Given the description of an element on the screen output the (x, y) to click on. 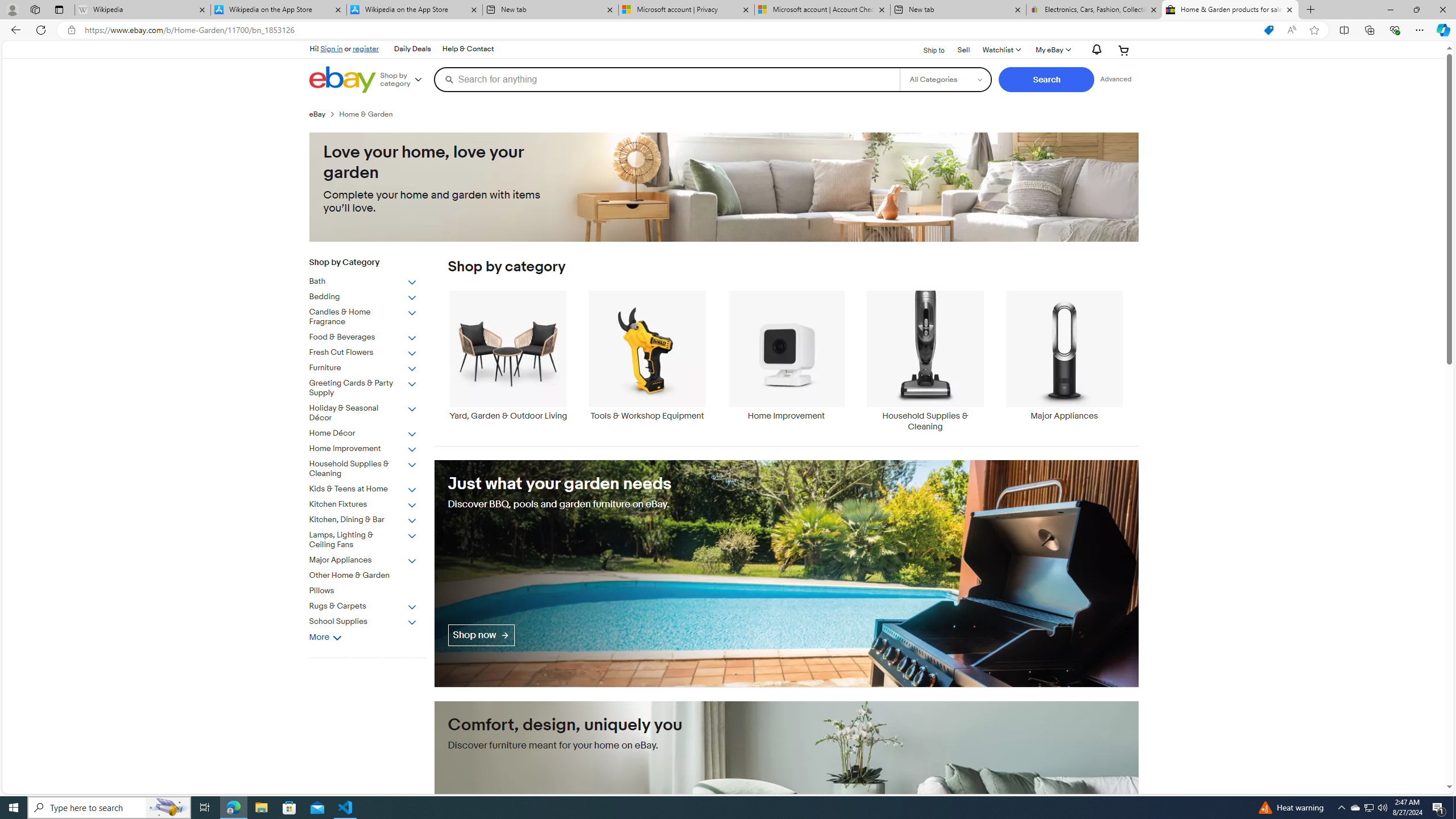
Home & Garden (370, 113)
Home Improvement (362, 448)
Kitchen, Dining & Bar (371, 517)
Minimize (1390, 9)
Sell (963, 49)
Bedding (362, 296)
Daily Deals (411, 49)
Help & Contact (467, 49)
Wikipedia - Sleeping (142, 9)
Pillows (371, 588)
Tools & Workshop Equipment (646, 355)
New tab (957, 9)
Bath (362, 281)
Home Improvement (786, 360)
